Given the description of an element on the screen output the (x, y) to click on. 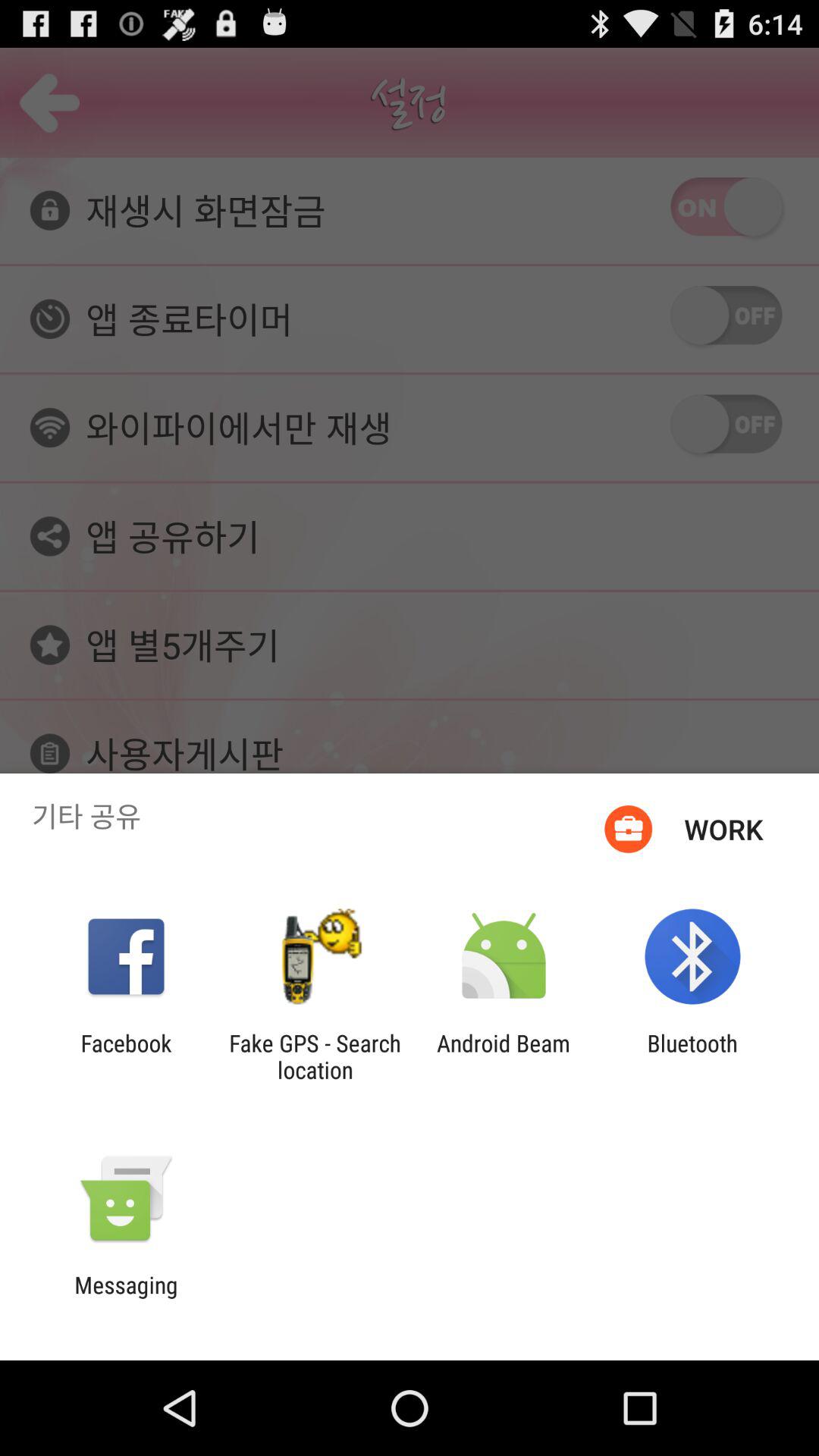
select the item to the left of the bluetooth app (503, 1056)
